Given the description of an element on the screen output the (x, y) to click on. 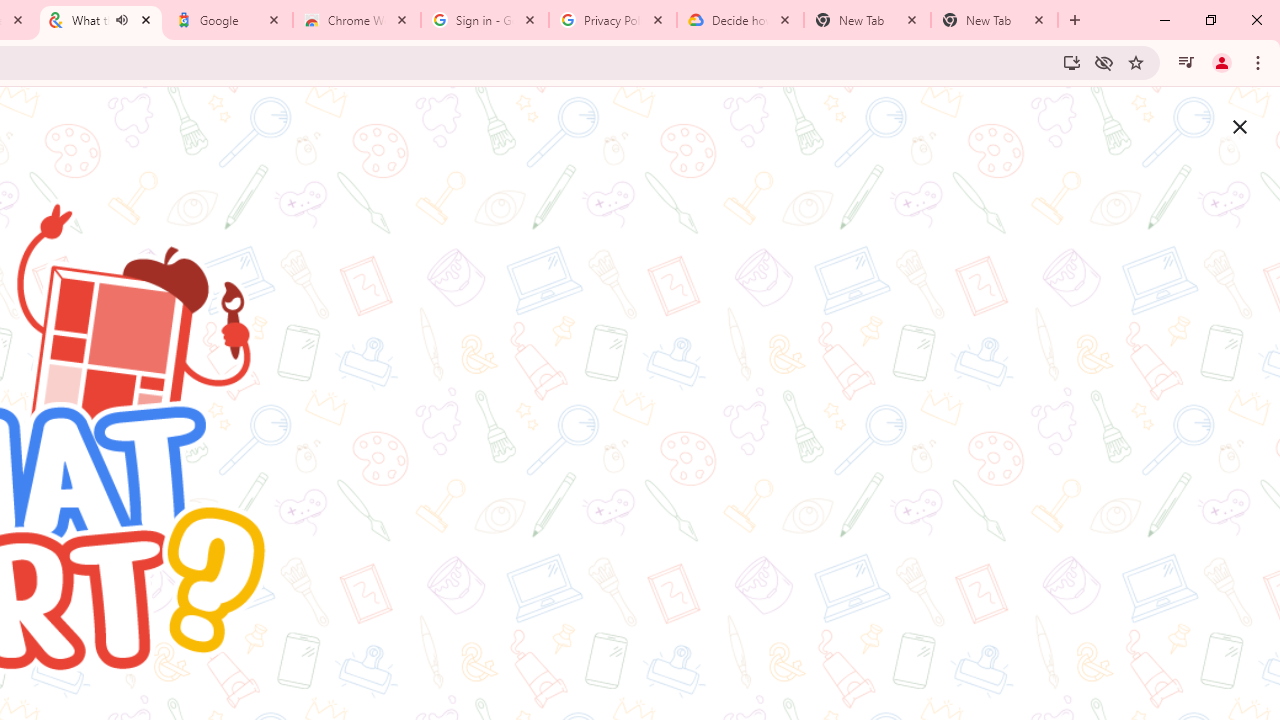
Install Google Arts & Culture (1071, 62)
